Given the description of an element on the screen output the (x, y) to click on. 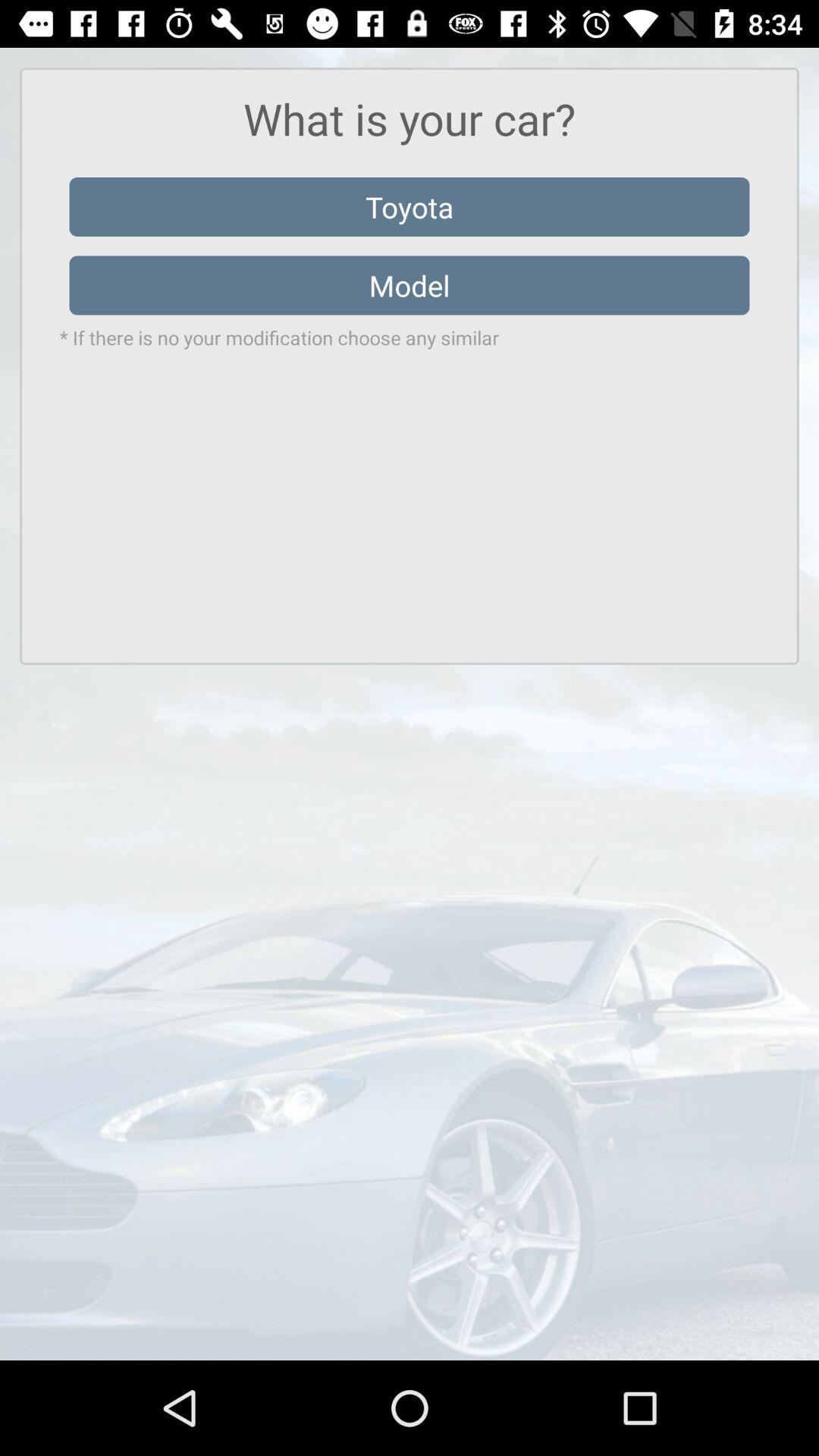
click the item above the model (409, 206)
